Given the description of an element on the screen output the (x, y) to click on. 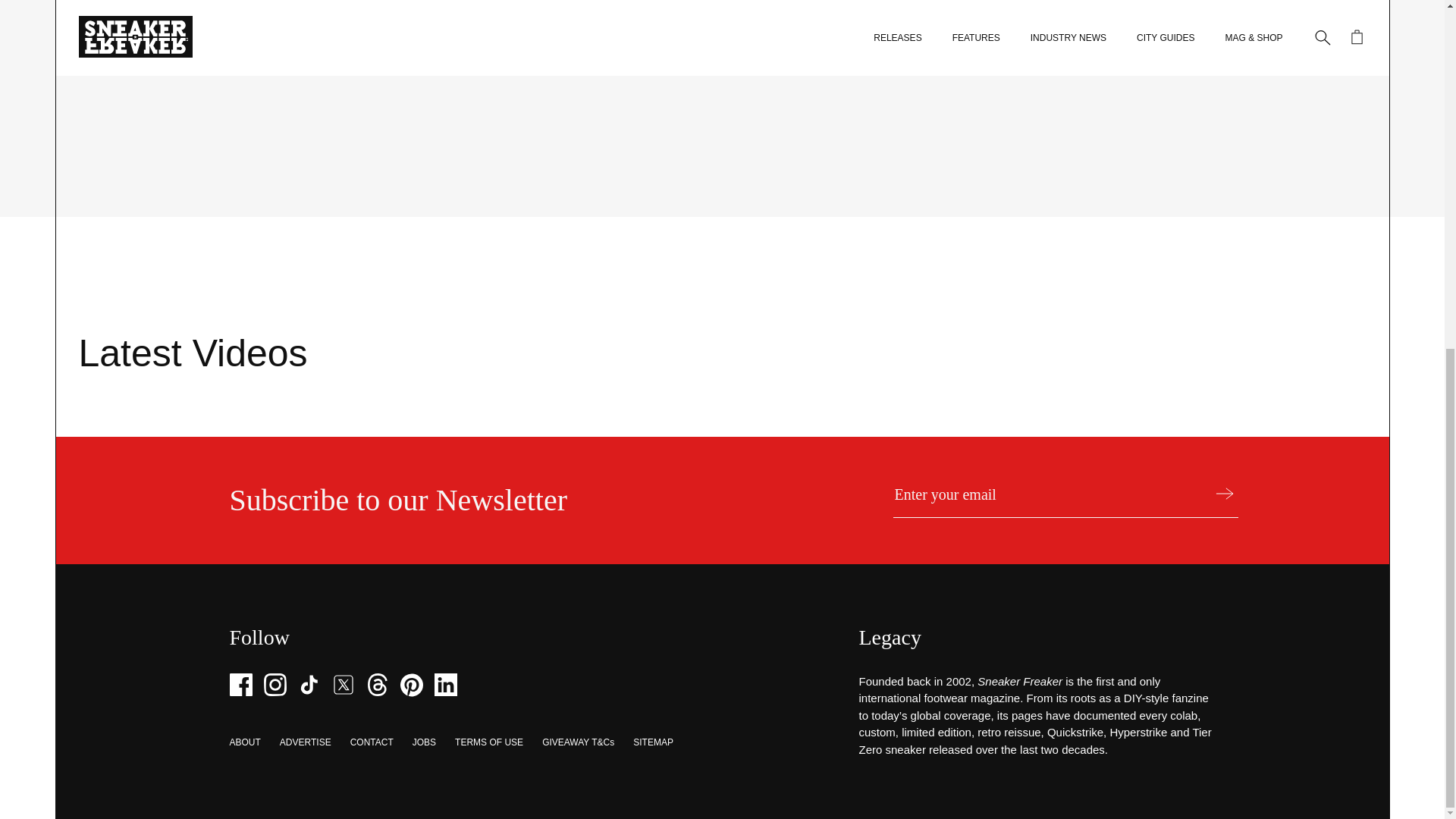
ADVERTISE (305, 742)
JOBS (423, 742)
CONTACT (371, 742)
ABOUT (244, 742)
SITEMAP (652, 742)
TERMS OF USE (488, 742)
